Given the description of an element on the screen output the (x, y) to click on. 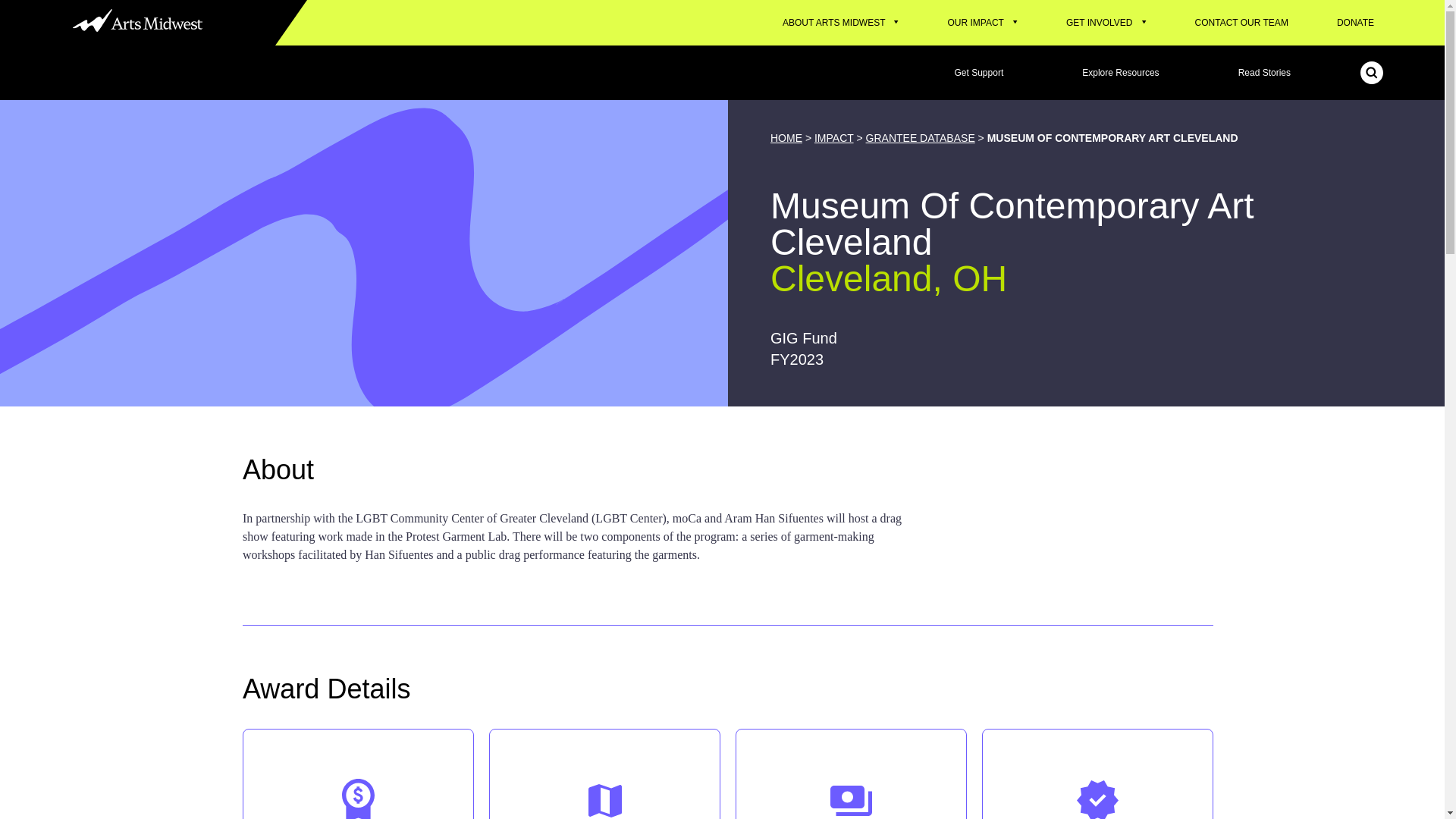
Get Support (978, 72)
DONATE (1355, 22)
CONTACT OUR TEAM (1241, 22)
